Given the description of an element on the screen output the (x, y) to click on. 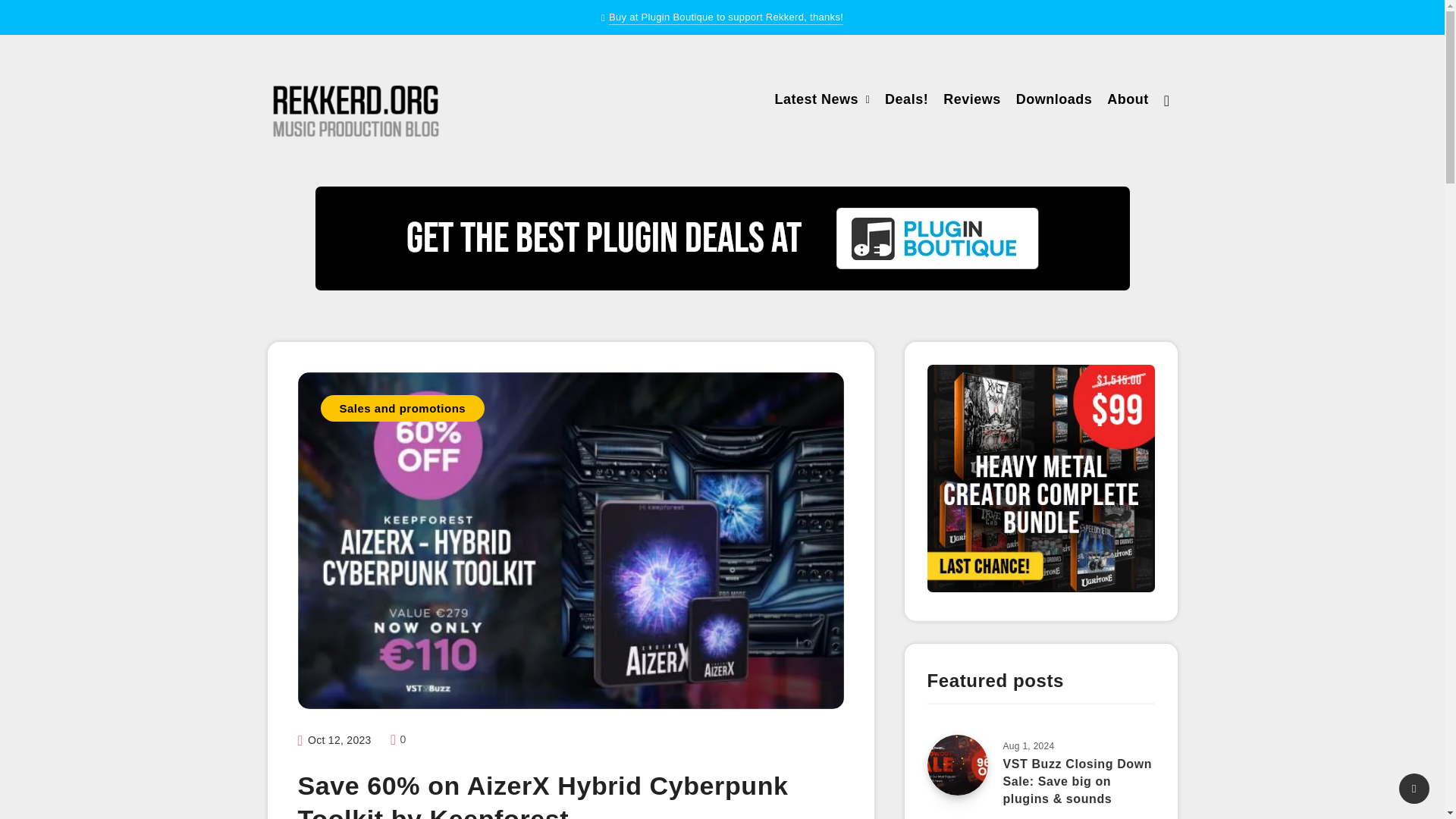
About (1127, 101)
Deals! (906, 101)
Buy at Plugin Boutique to support Rekkerd, thanks! (725, 17)
0 (398, 739)
Latest News (816, 101)
Sales and promotions (402, 407)
Go to comments (398, 739)
Reviews (972, 101)
Downloads (1054, 101)
